Given the description of an element on the screen output the (x, y) to click on. 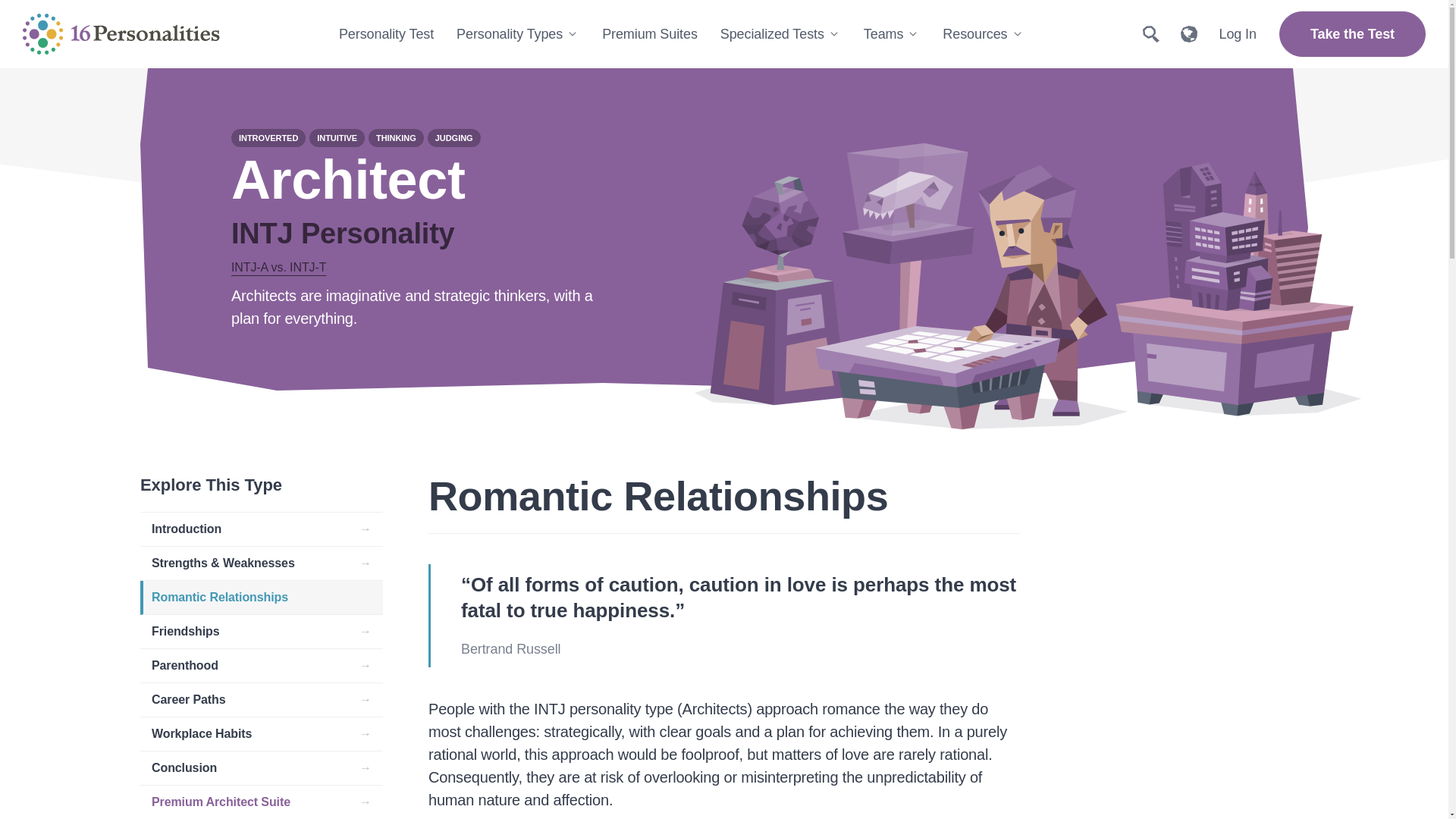
Teams (891, 33)
Personality Types (518, 33)
Specialized Tests (780, 33)
Skip to search (42, 31)
Resources (983, 33)
Homepage (121, 33)
Premium Suites (650, 33)
Personality Test (386, 33)
Skip to main content (61, 10)
